Given the description of an element on the screen output the (x, y) to click on. 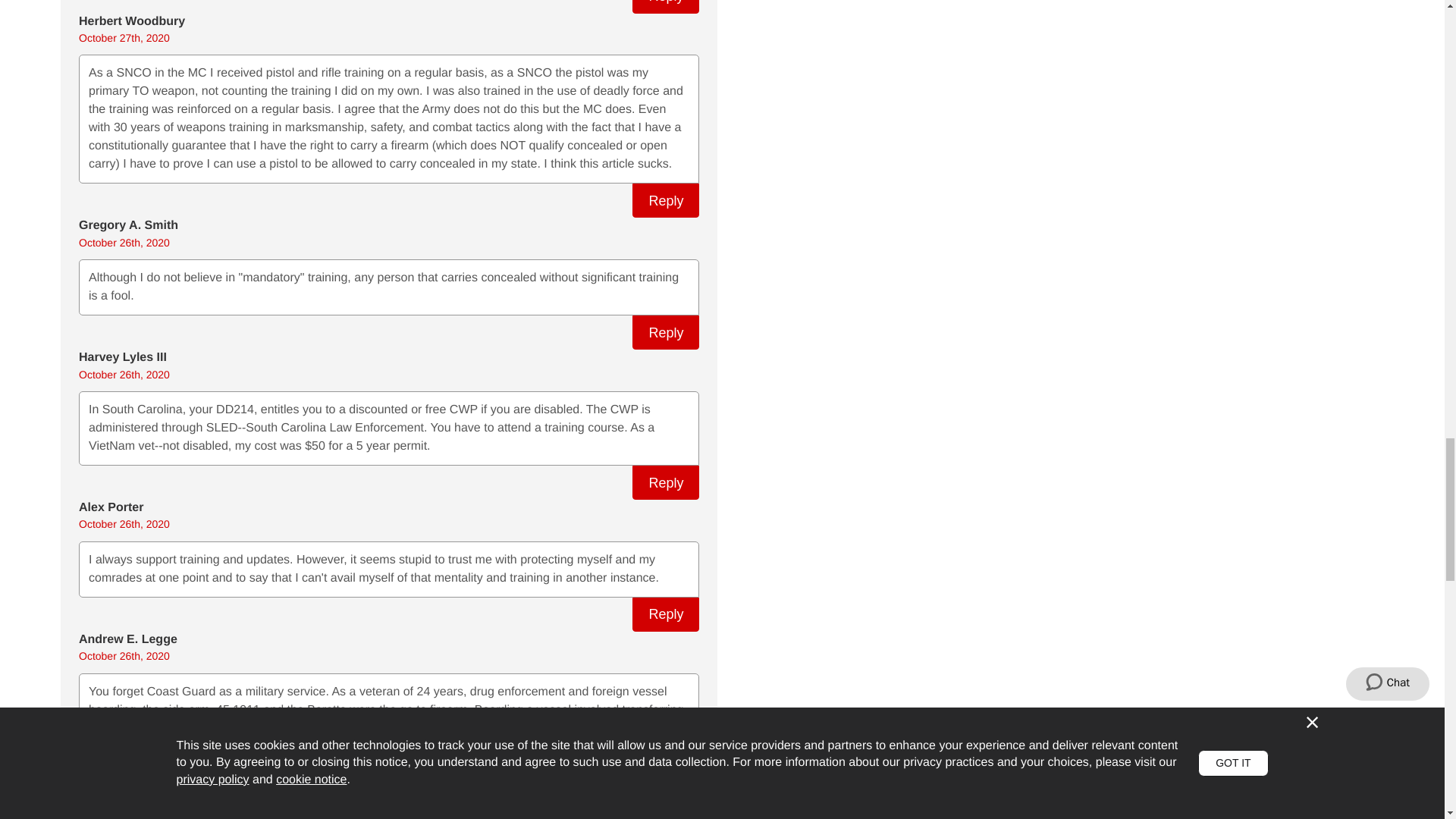
Reply (664, 614)
Reply (664, 200)
Reply (664, 482)
Reply (664, 6)
Reply (664, 332)
